Given the description of an element on the screen output the (x, y) to click on. 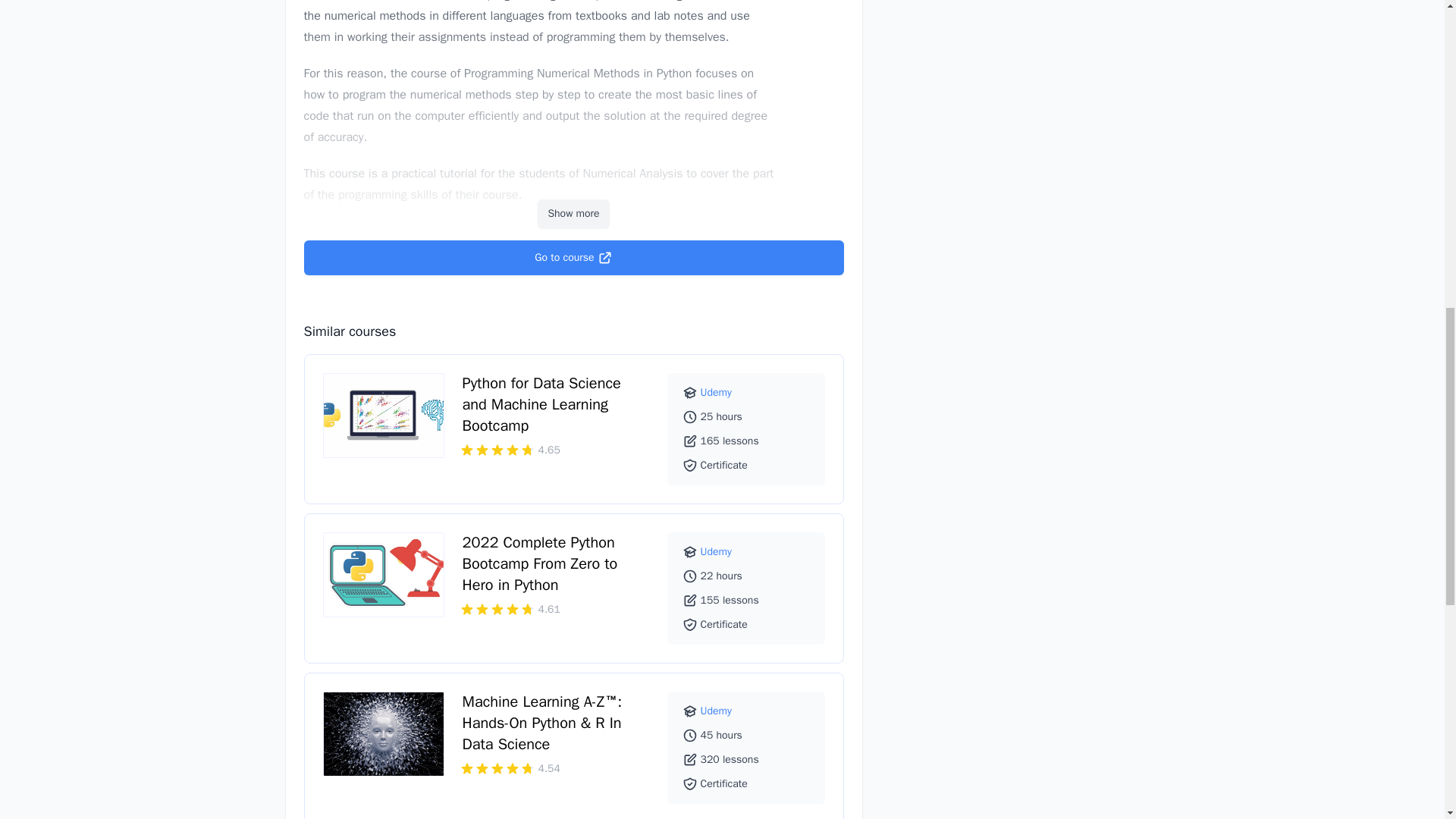
2022 Complete Python Bootcamp From Zero to Hero in Python (540, 563)
Go to course (572, 257)
Show more (572, 213)
Udemy (716, 710)
Python for Data Science and Machine Learning Bootcamp (542, 403)
Udemy (716, 551)
Udemy (716, 391)
